Given the description of an element on the screen output the (x, y) to click on. 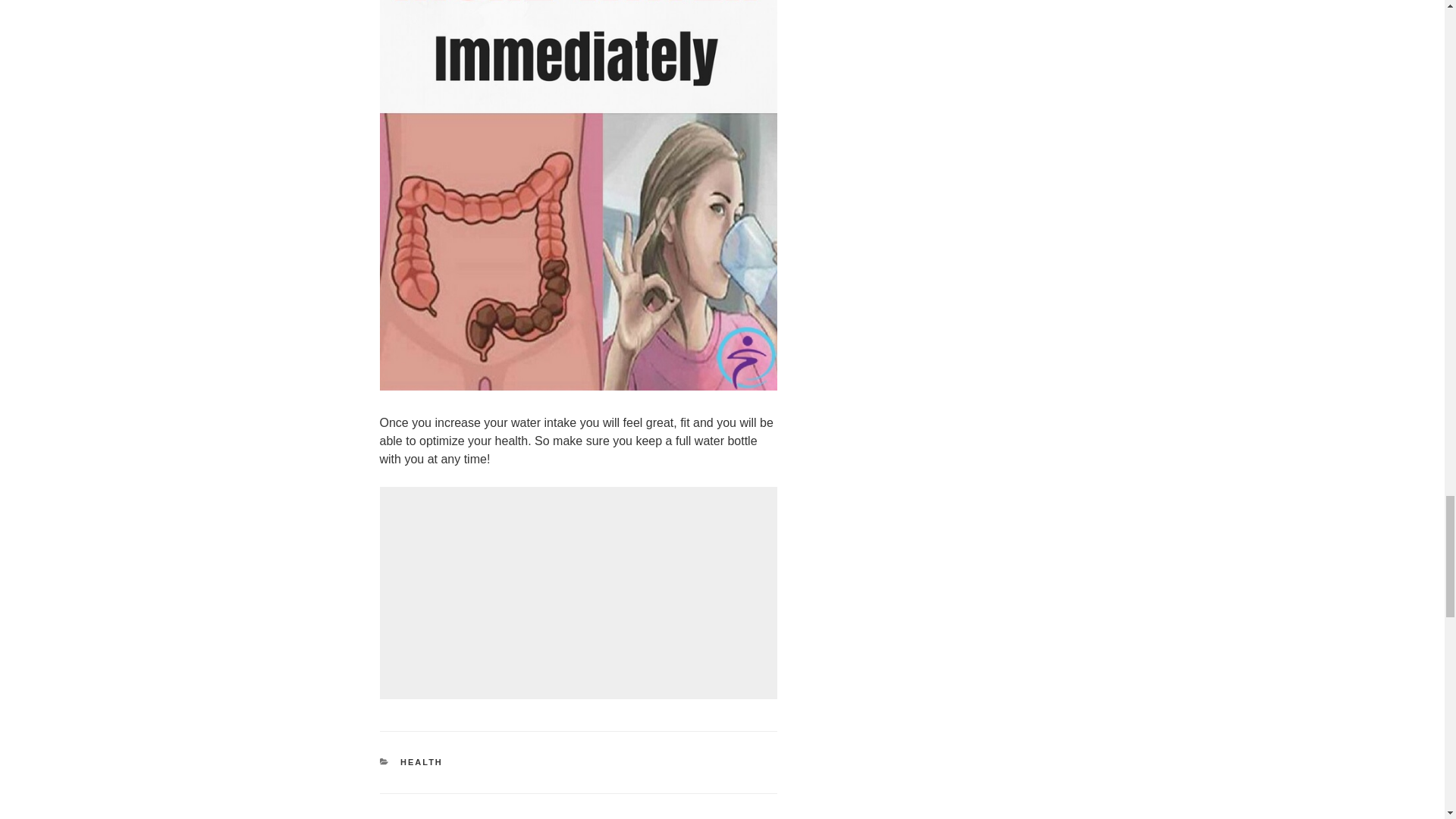
HEALTH (421, 761)
